Given the description of an element on the screen output the (x, y) to click on. 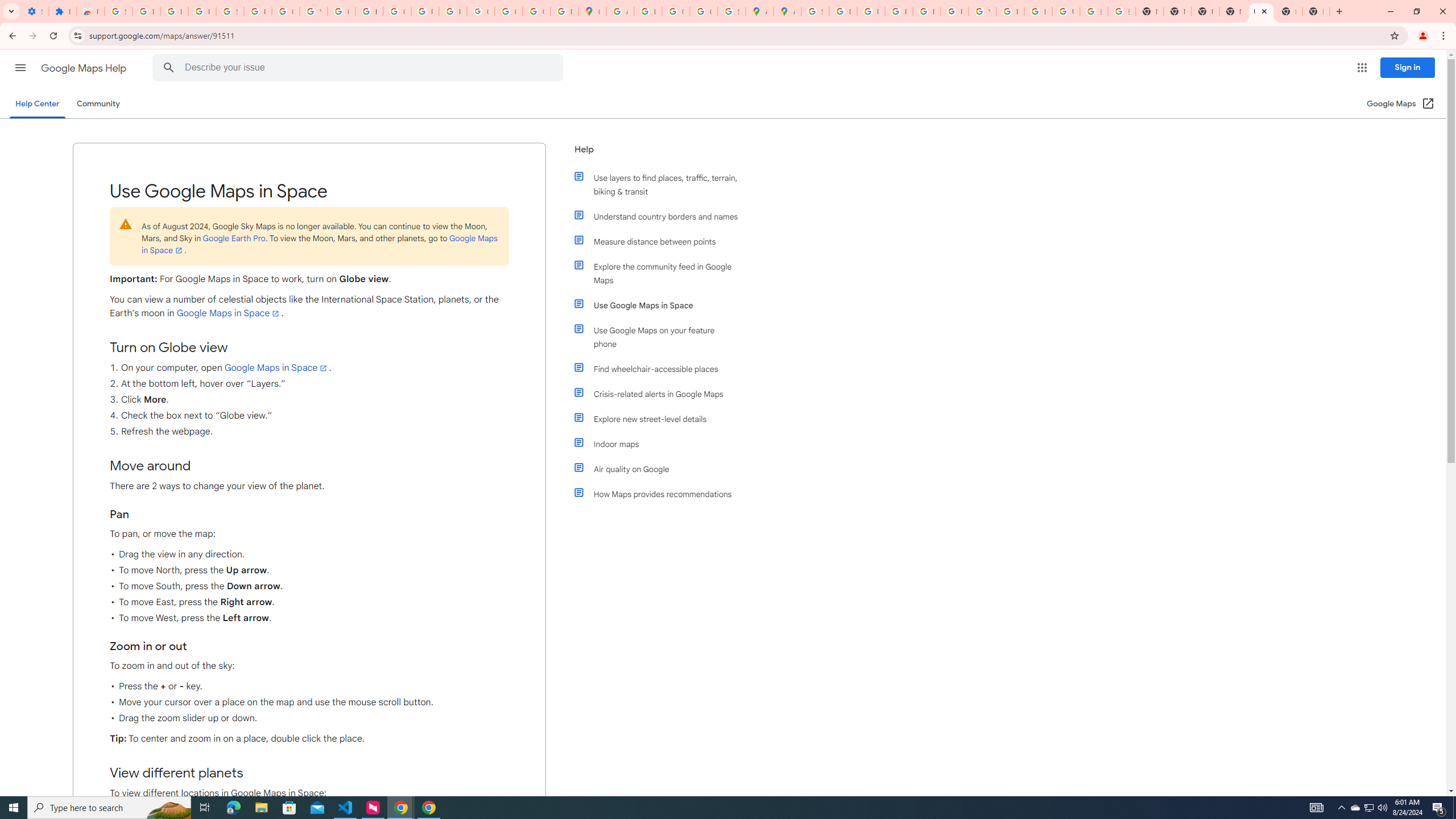
Understand country borders and names (661, 216)
Help Center (36, 103)
YouTube (313, 11)
Delete photos & videos - Computer - Google Photos Help (146, 11)
Privacy Help Center - Policies Help (898, 11)
Create your Google Account (675, 11)
https://scholar.google.com/ (369, 11)
